Given the description of an element on the screen output the (x, y) to click on. 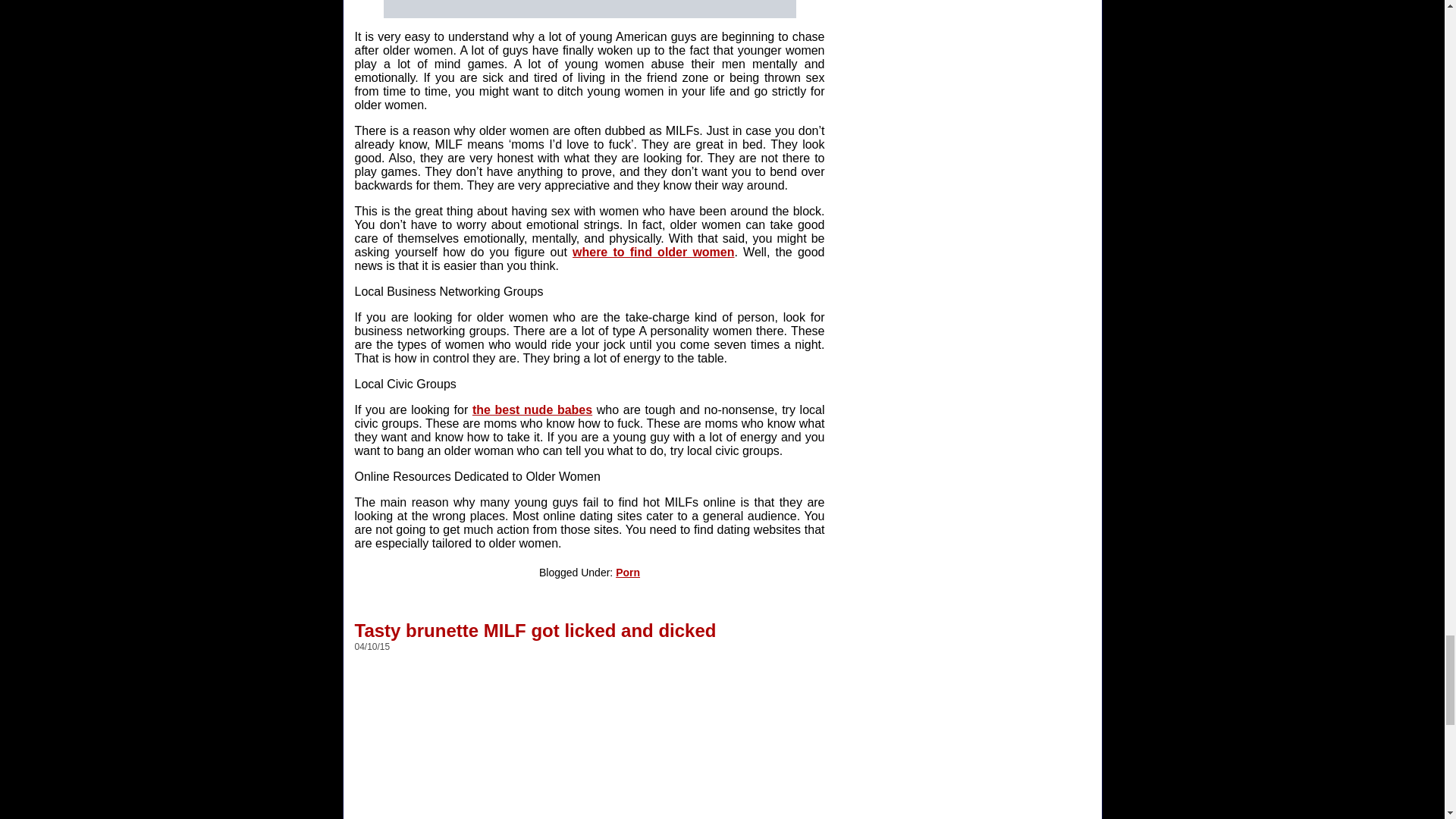
matana (590, 9)
Premium Galleries video player (597, 741)
